Given the description of an element on the screen output the (x, y) to click on. 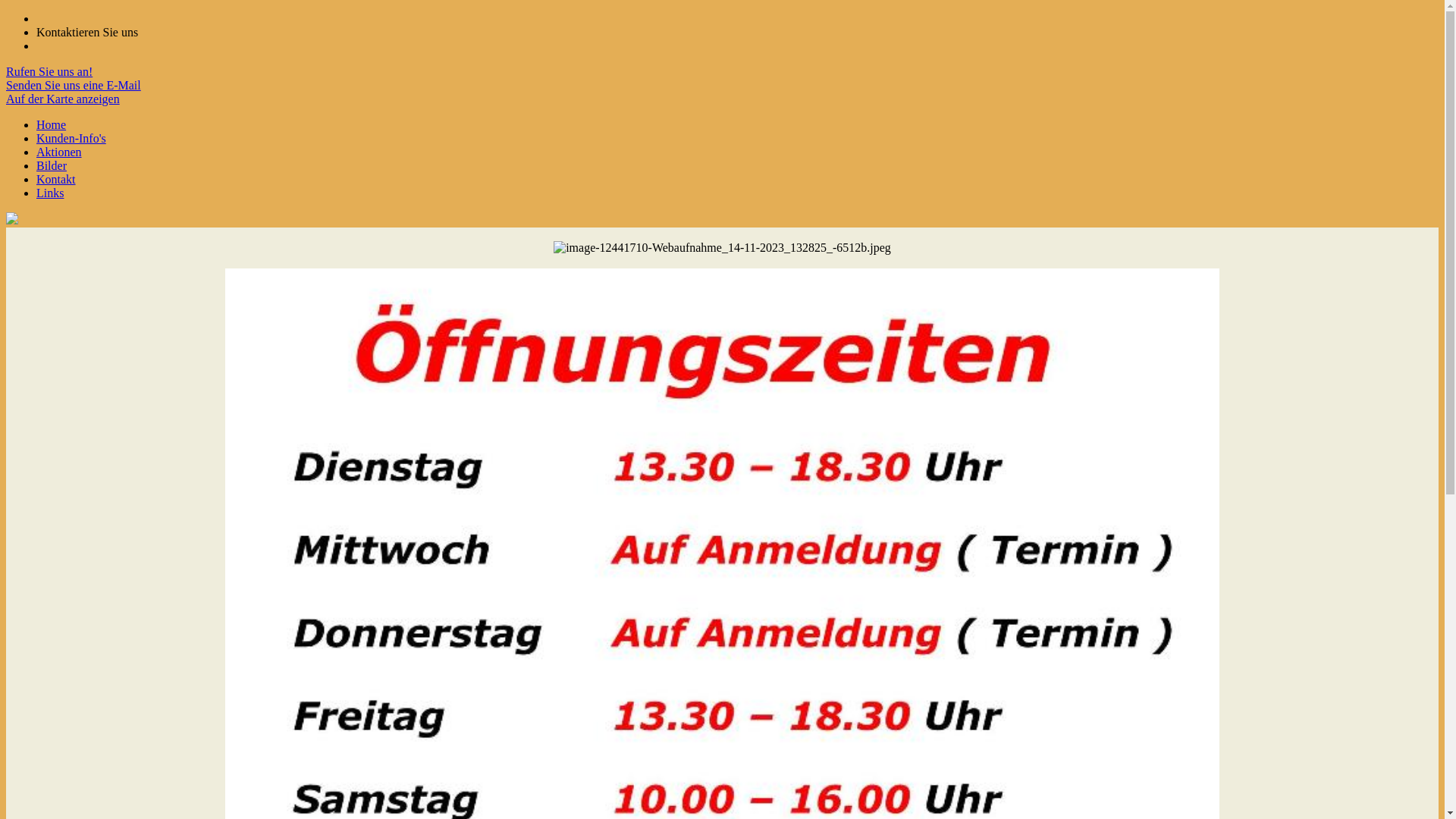
Links Element type: text (49, 192)
Aktionen Element type: text (58, 151)
Senden Sie uns eine E-Mail Element type: text (73, 84)
Bilder Element type: text (51, 165)
Kunden-Info's Element type: text (71, 137)
Kontakt Element type: text (55, 178)
Home Element type: text (50, 124)
Auf der Karte anzeigen Element type: text (62, 98)
Rufen Sie uns an! Element type: text (49, 71)
